Given the description of an element on the screen output the (x, y) to click on. 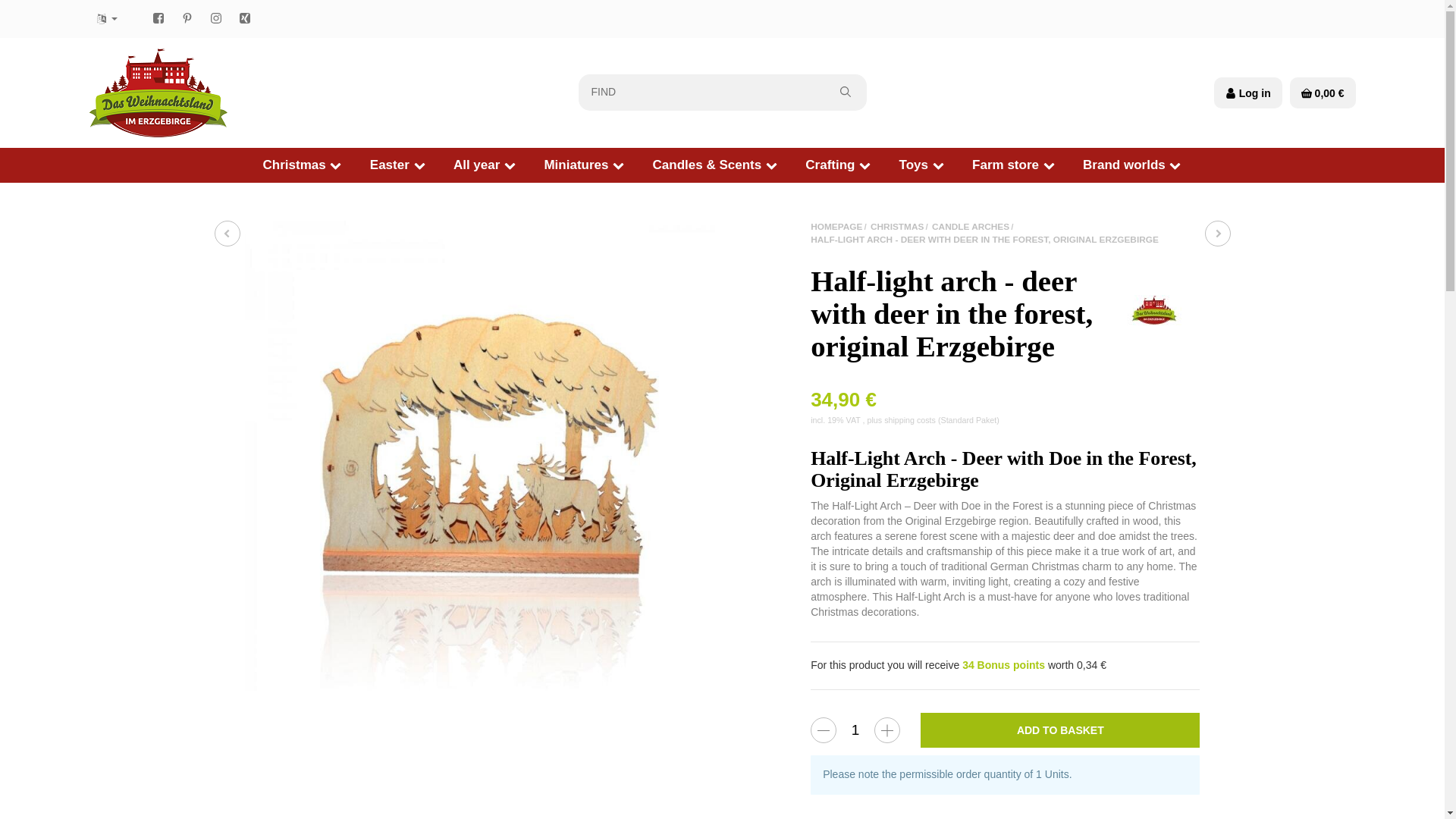
Basket (1322, 92)
1 (855, 729)
Pinterest (187, 18)
Facebook (158, 18)
Instagram (216, 18)
Xing (244, 18)
Christmas (301, 165)
Please select a language. (106, 19)
Erlebniswelt Erzgebirge (157, 92)
Log in (1248, 92)
Log in (1248, 92)
